Given the description of an element on the screen output the (x, y) to click on. 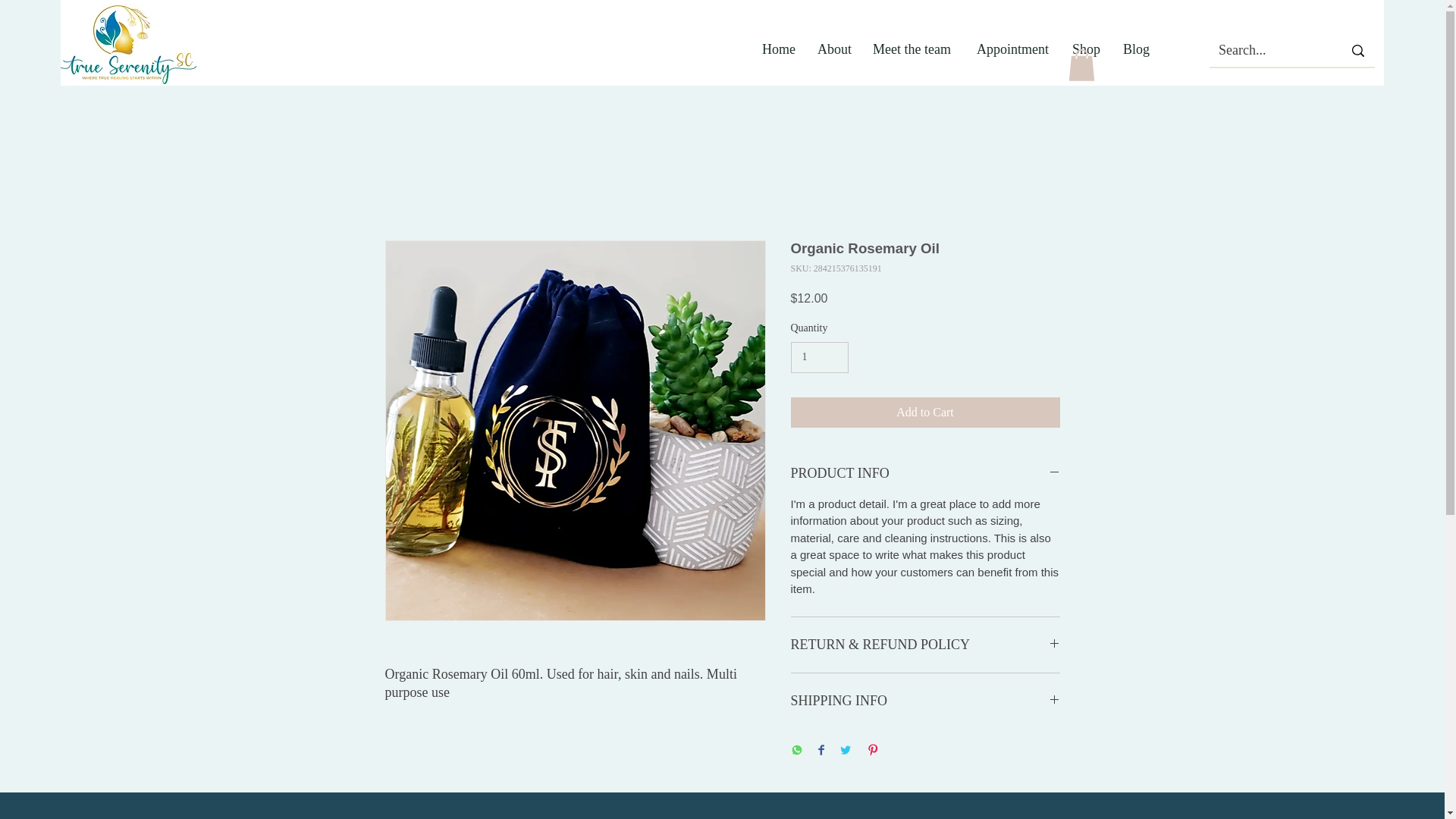
Meet the team (913, 48)
Blog (1134, 48)
Appointment (1013, 48)
About (833, 48)
Shop (1086, 48)
SHIPPING INFO (924, 700)
Home (778, 48)
Add to Cart (924, 412)
1 (818, 357)
PRODUCT INFO (924, 473)
